Given the description of an element on the screen output the (x, y) to click on. 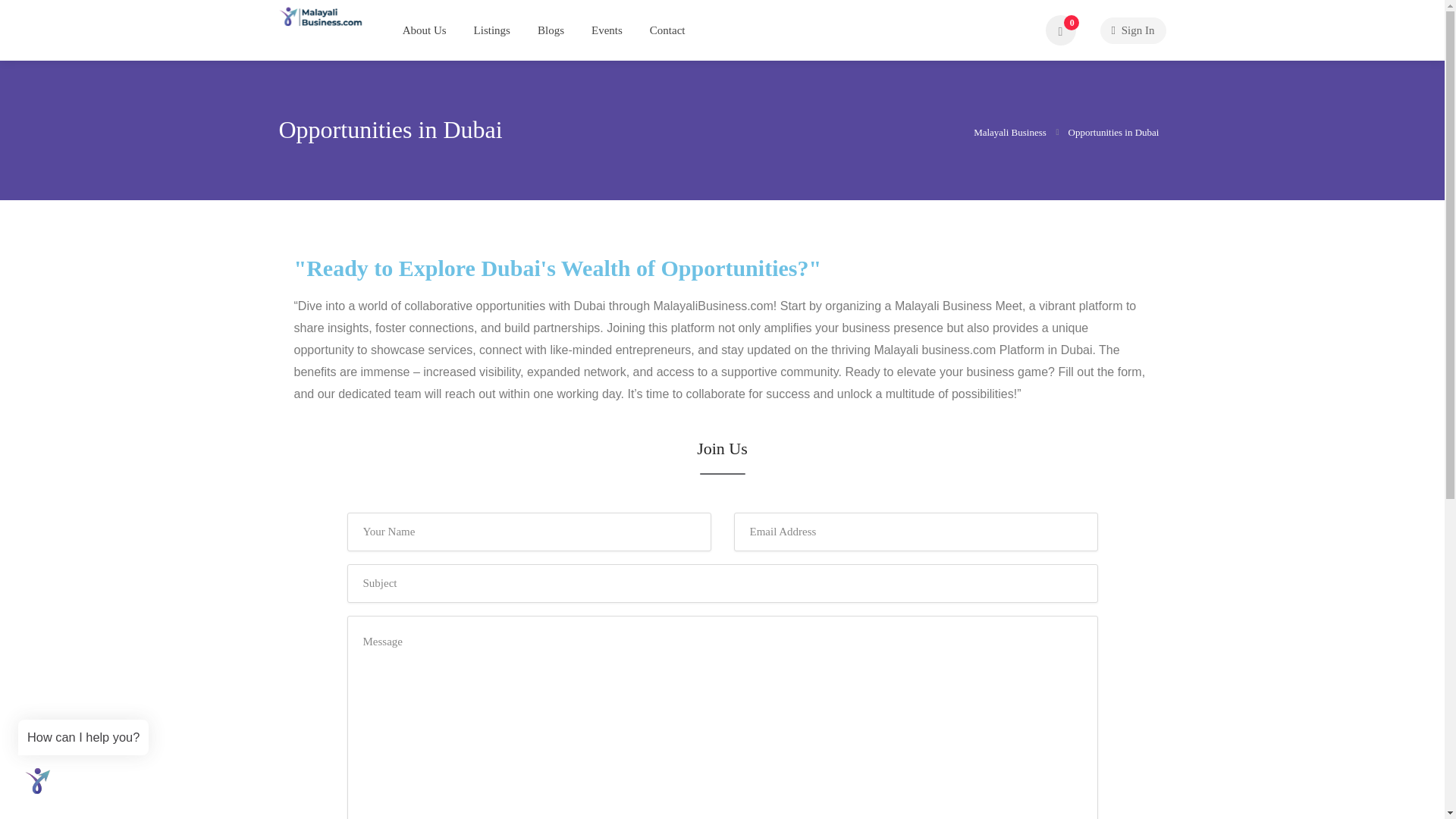
Contact (668, 30)
About Us (424, 30)
Malayali Business (1011, 131)
Blogs (550, 30)
Malayali Business (320, 15)
Listings (492, 30)
Sign In (1132, 30)
Go to Malayali Business. (1011, 131)
Events (606, 30)
